Given the description of an element on the screen output the (x, y) to click on. 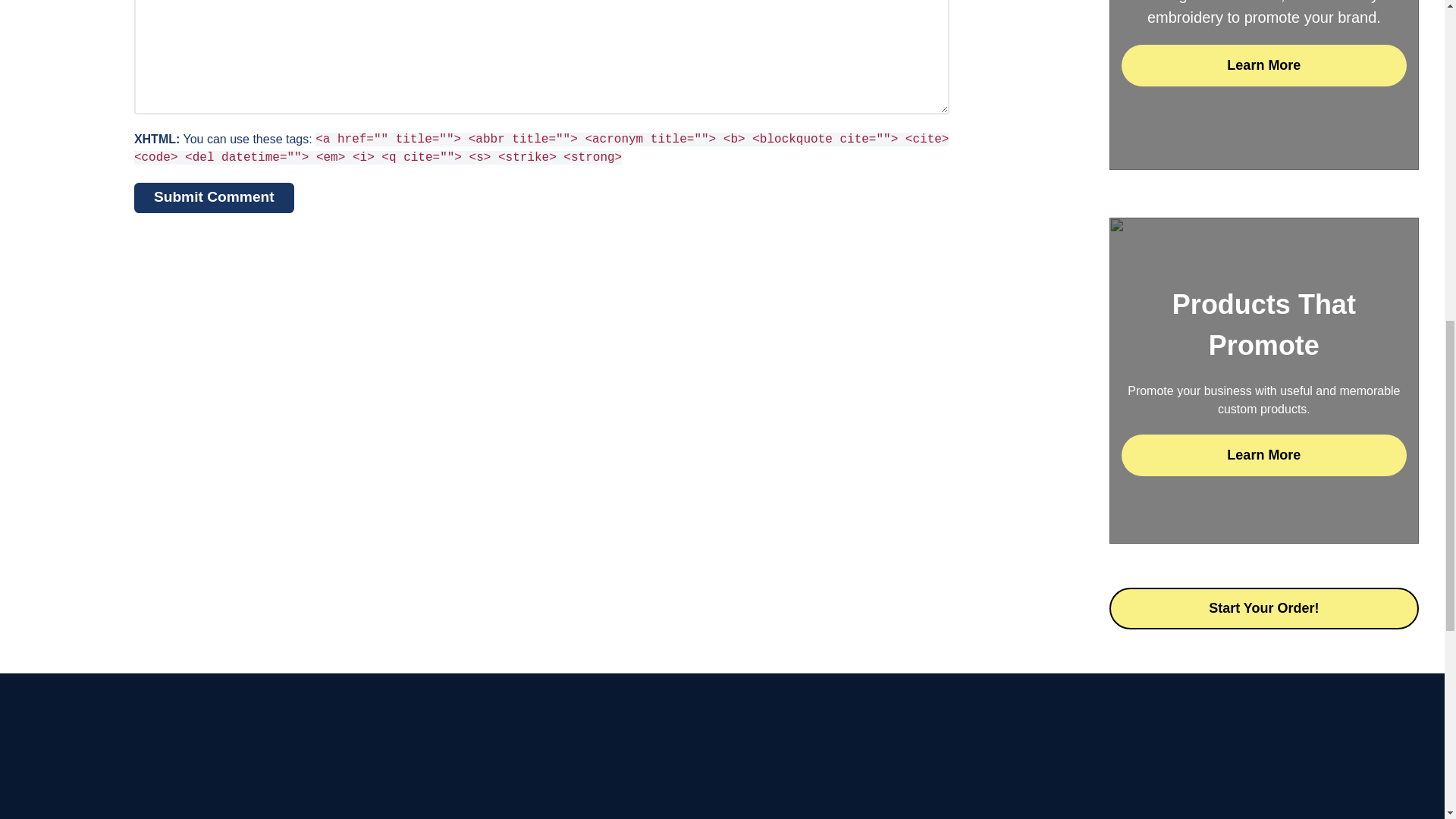
Start Your Order! (1263, 608)
Submit Comment (213, 197)
Learn More (1263, 65)
Submit Comment (213, 197)
Learn More (1263, 454)
